Given the description of an element on the screen output the (x, y) to click on. 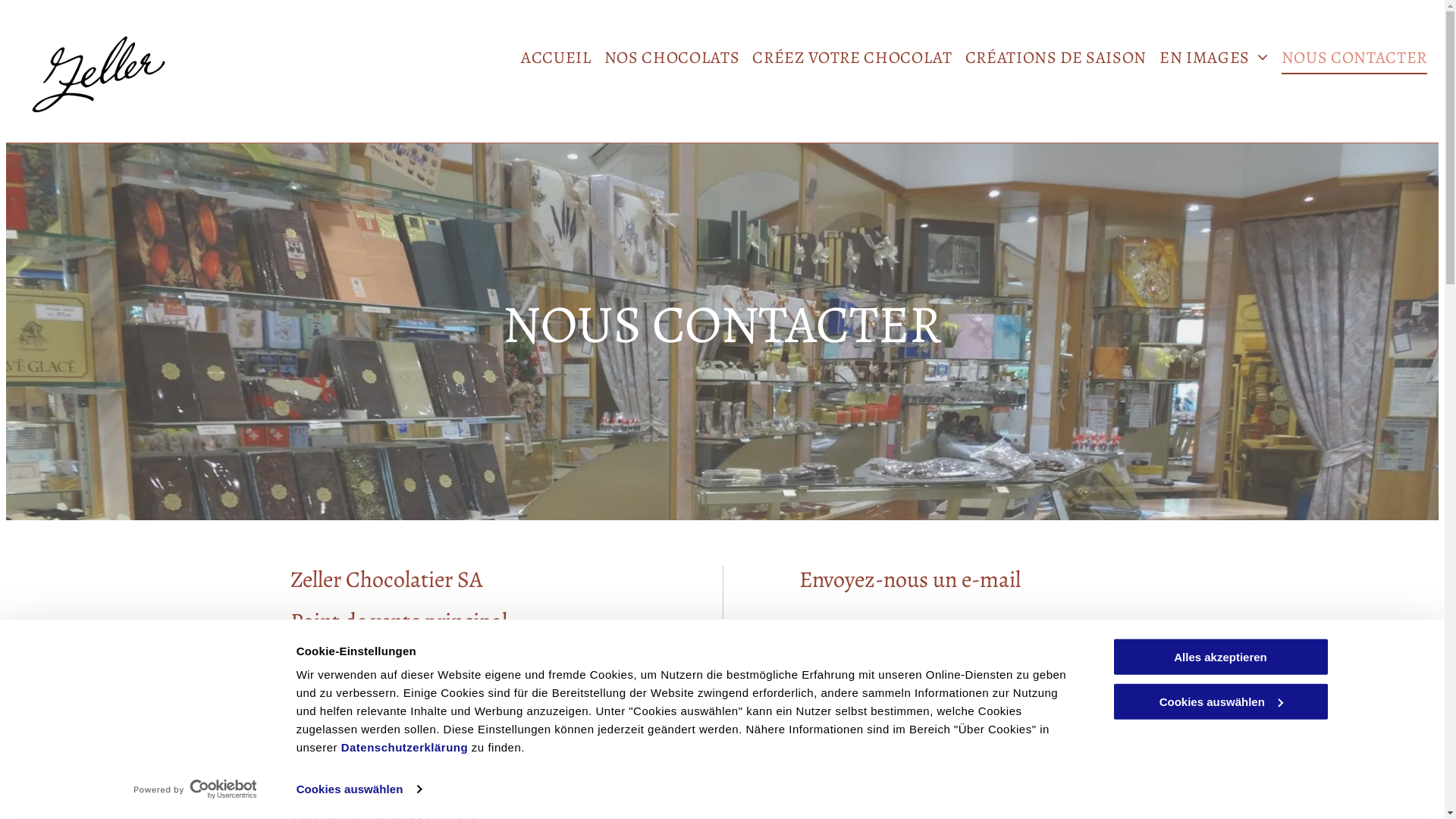
EN IMAGES Element type: text (1207, 57)
Point de vente principal Element type: text (397, 620)
022 311 50 26 Element type: text (391, 711)
chocolat.zeller@bluewin.ch Element type: text (412, 760)
Envoyez-nous un e-mail Element type: text (909, 579)
Zeller Chocolatier SA Element type: text (385, 579)
E-mail : Element type: text (310, 760)
Fax: 022 311 50 26 Element type: text (337, 735)
Alles akzeptieren Element type: text (1219, 656)
NOS CHOCOLATS Element type: text (665, 57)
NOUS CONTACTER Element type: text (1347, 57)
ACCUEIL Element type: text (549, 57)
